Given the description of an element on the screen output the (x, y) to click on. 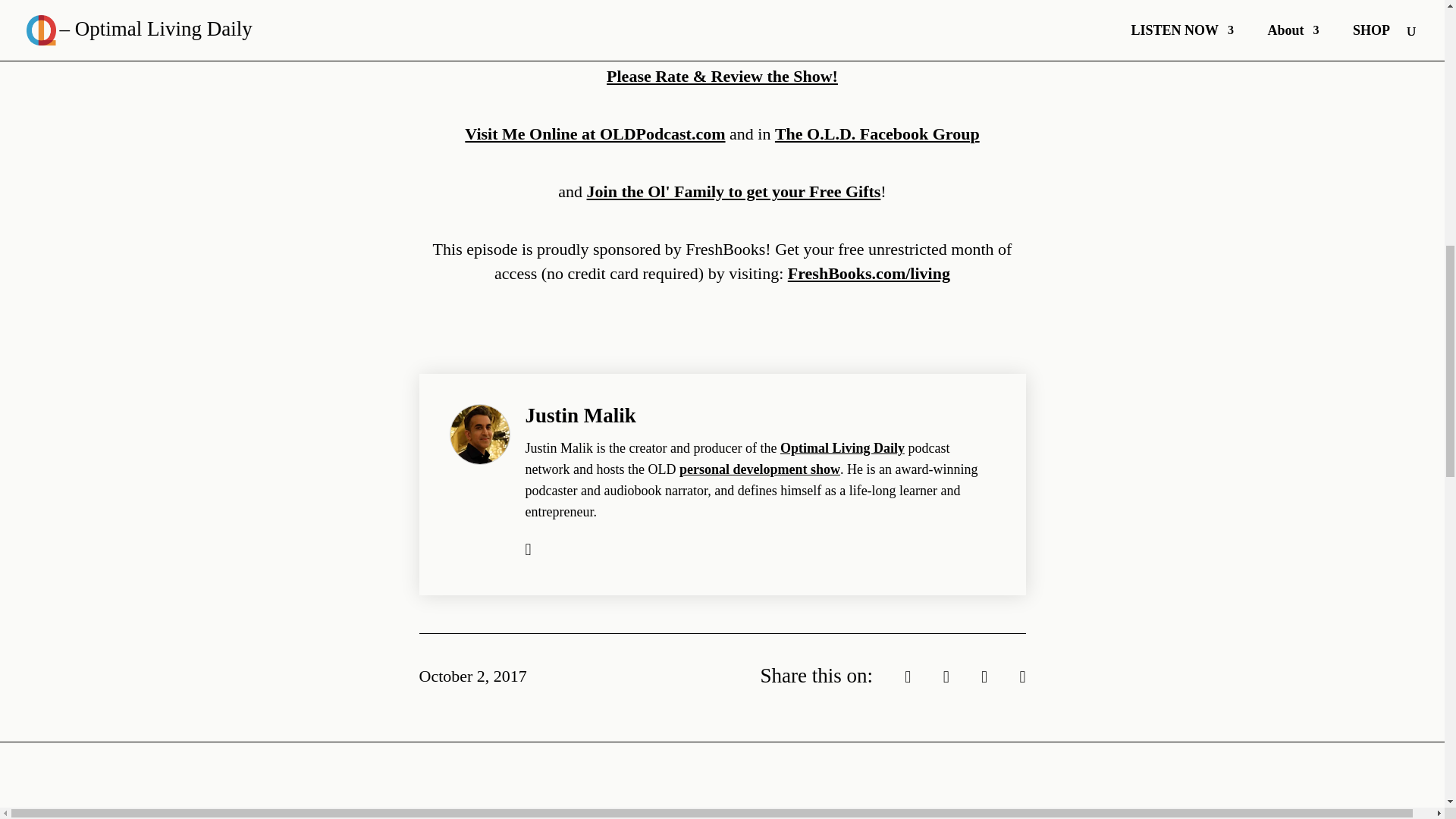
personal development show (759, 468)
Visit Me Online at OLDPodcast.com (594, 133)
Optimal Living Daily (842, 447)
Justin Malik (579, 415)
The O.L.D. Facebook Group (876, 133)
Join the Ol' Family to get your Free Gifts (733, 190)
